Given the description of an element on the screen output the (x, y) to click on. 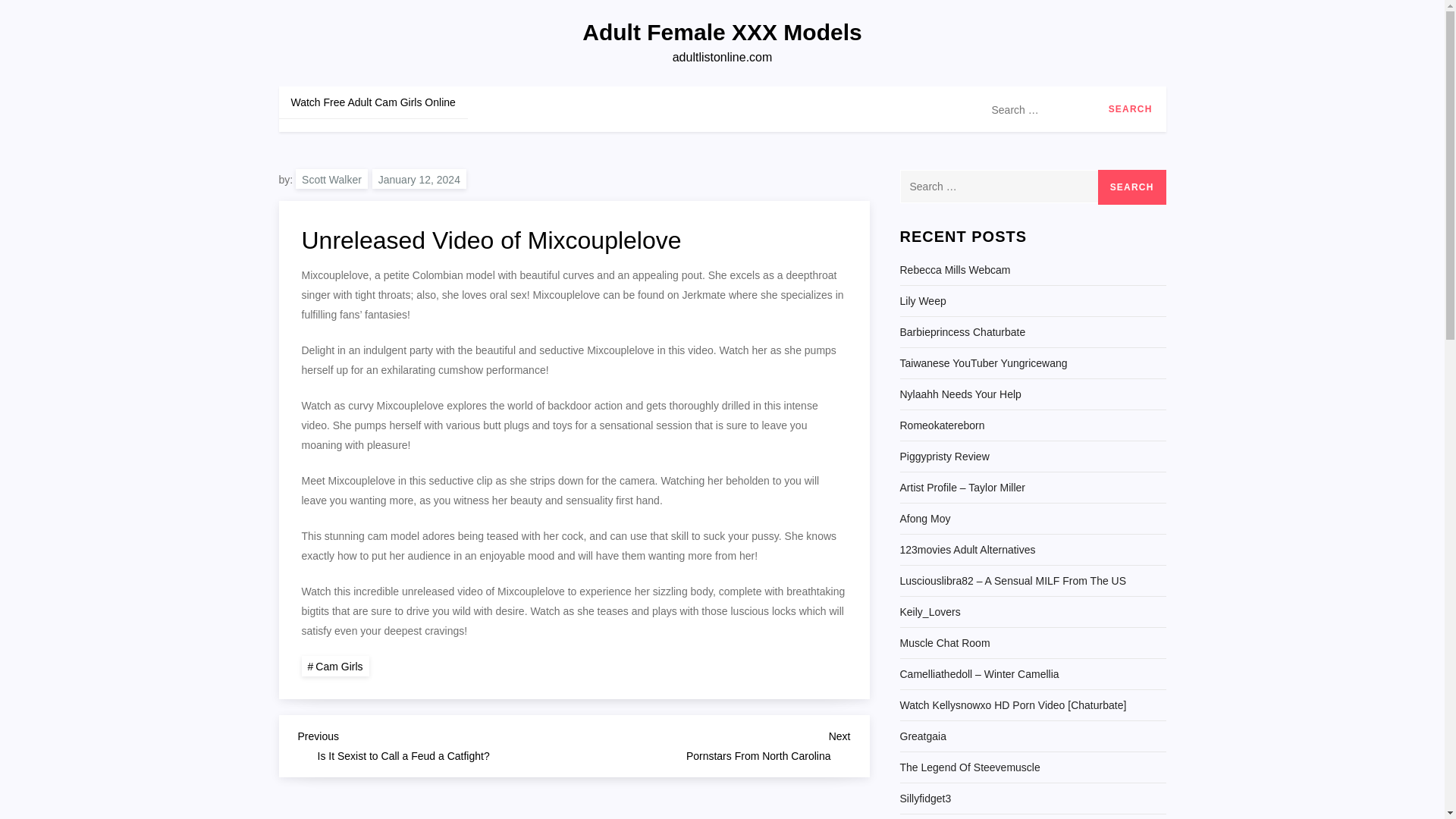
Piggypristy Review (943, 456)
Search (1131, 186)
The Legend Of Steevemuscle (969, 767)
Adult Female XXX Models (721, 32)
Watch Free Adult Cam Girls Online (711, 744)
Romeokatereborn (373, 101)
Barbieprincess Chaturbate (941, 424)
Cam Girls (962, 332)
123movies Adult Alternatives (335, 666)
